Given the description of an element on the screen output the (x, y) to click on. 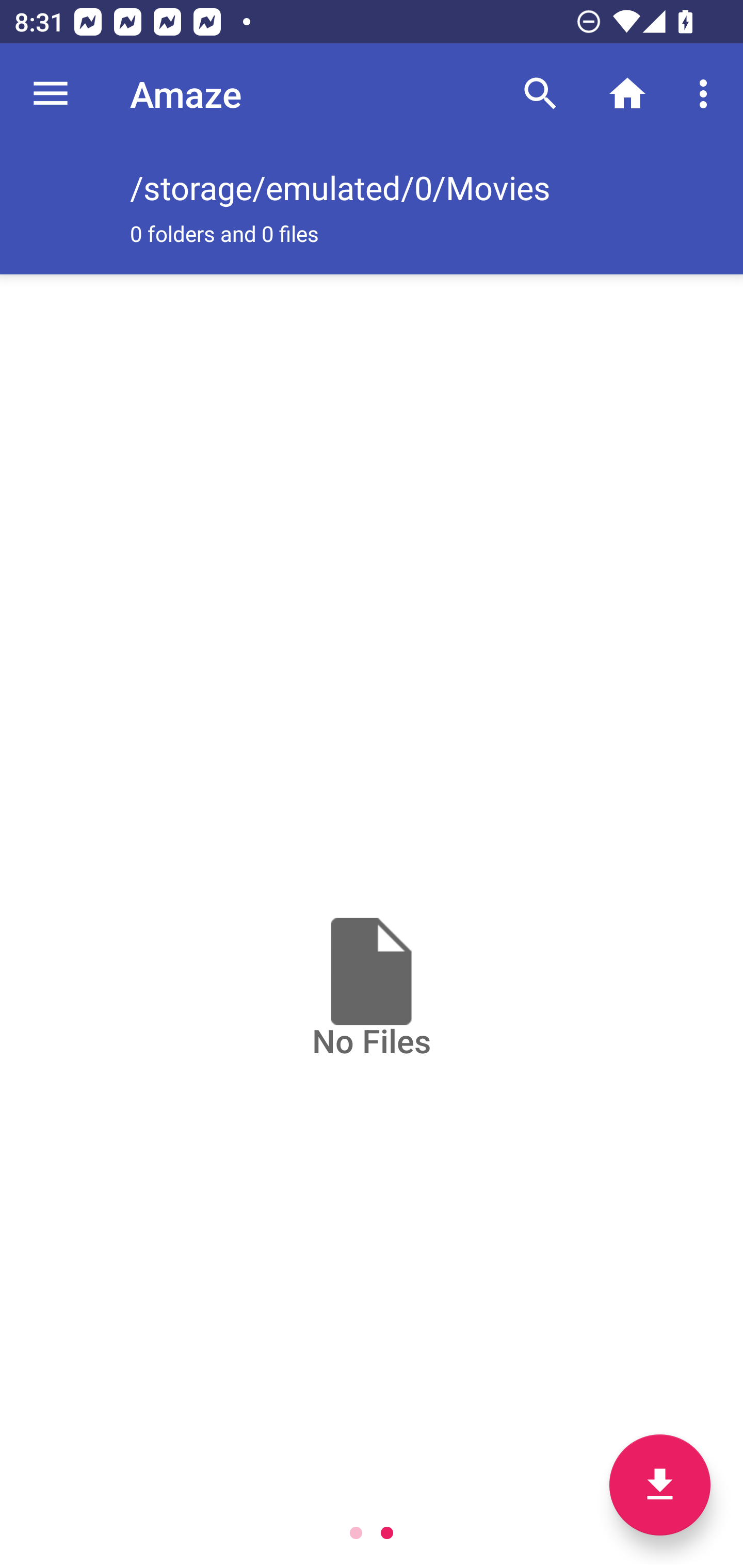
Navigate up (50, 93)
Search (540, 93)
Home (626, 93)
More options (706, 93)
